Given the description of an element on the screen output the (x, y) to click on. 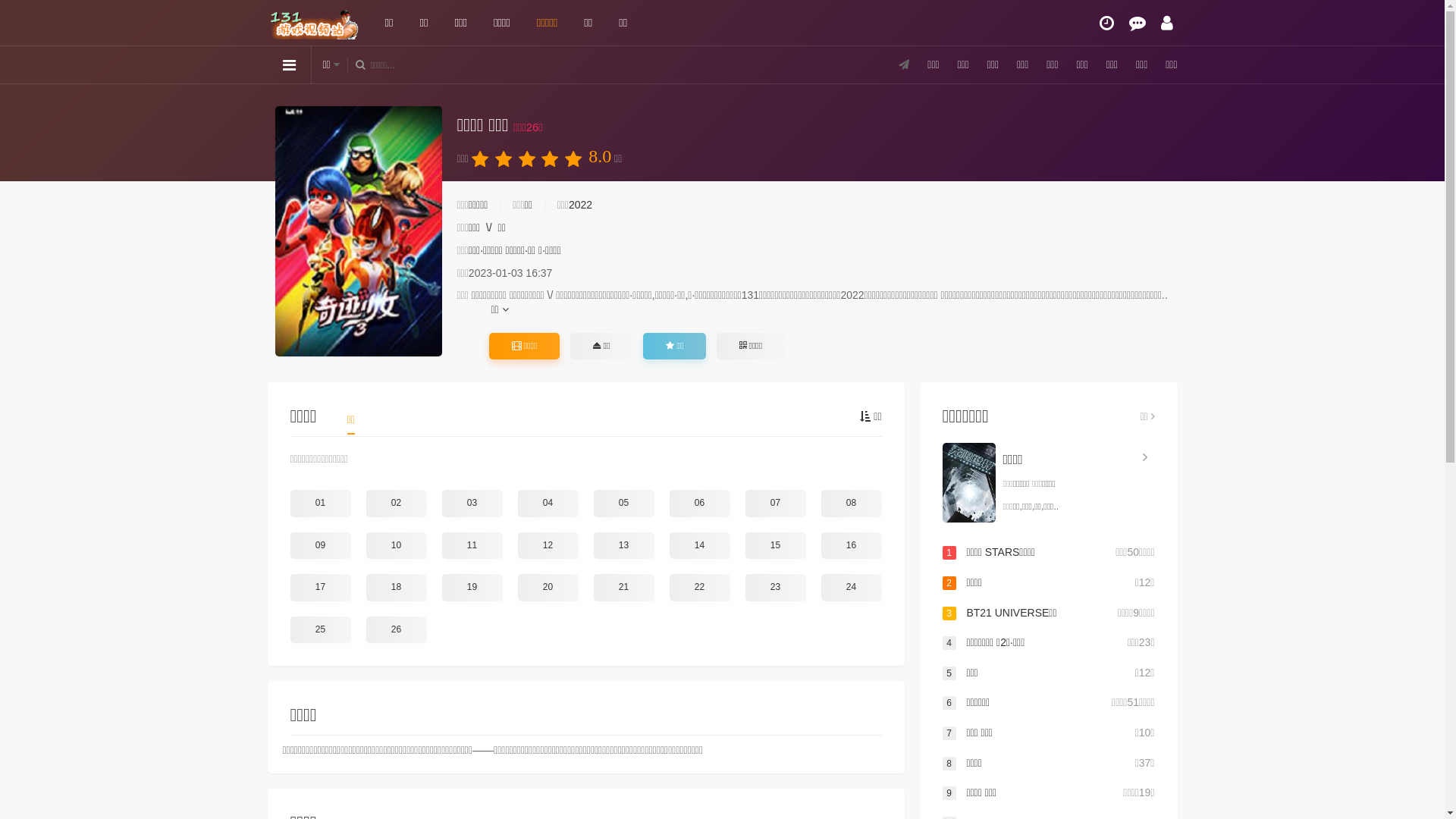
02 Element type: text (395, 503)
05 Element type: text (623, 503)
01 Element type: text (319, 503)
18 Element type: text (395, 587)
25 Element type: text (319, 629)
16 Element type: text (850, 545)
11 Element type: text (471, 545)
22 Element type: text (698, 587)
17 Element type: text (319, 587)
12 Element type: text (547, 545)
13 Element type: text (623, 545)
15 Element type: text (774, 545)
26 Element type: text (395, 629)
03 Element type: text (471, 503)
08 Element type: text (850, 503)
07 Element type: text (774, 503)
2022 Element type: text (580, 204)
\/ Element type: text (489, 227)
06 Element type: text (698, 503)
10 Element type: text (395, 545)
14 Element type: text (698, 545)
21 Element type: text (623, 587)
09 Element type: text (319, 545)
19 Element type: text (471, 587)
23 Element type: text (774, 587)
04 Element type: text (547, 503)
24 Element type: text (850, 587)
20 Element type: text (547, 587)
